Given the description of an element on the screen output the (x, y) to click on. 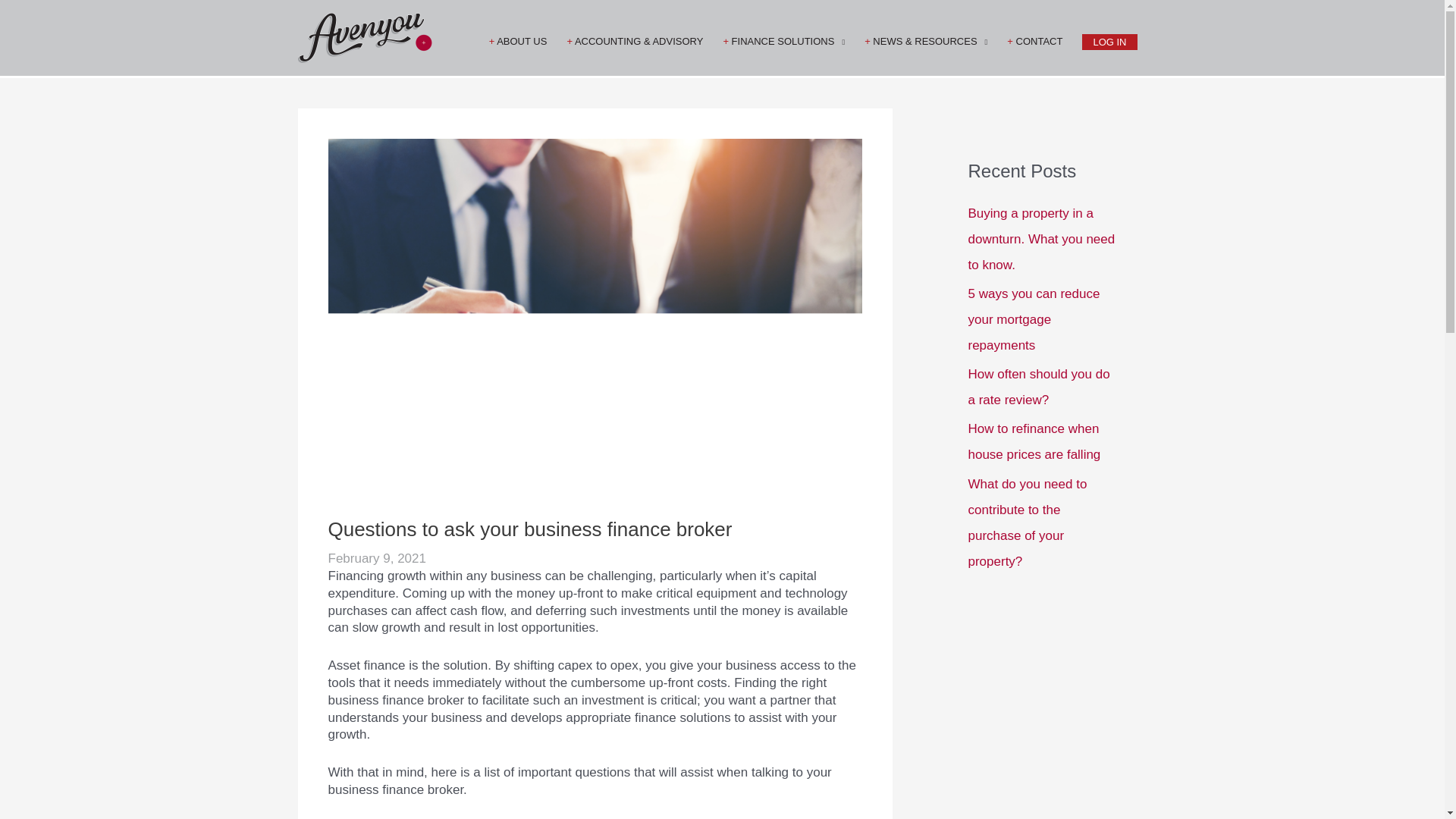
How to refinance when house prices are falling (1034, 441)
5 ways you can reduce your mortgage repayments (1033, 319)
LOG IN (1109, 41)
Buying a property in a downturn. What you need to know. (1041, 238)
How often should you do a rate review? (1038, 386)
